Given the description of an element on the screen output the (x, y) to click on. 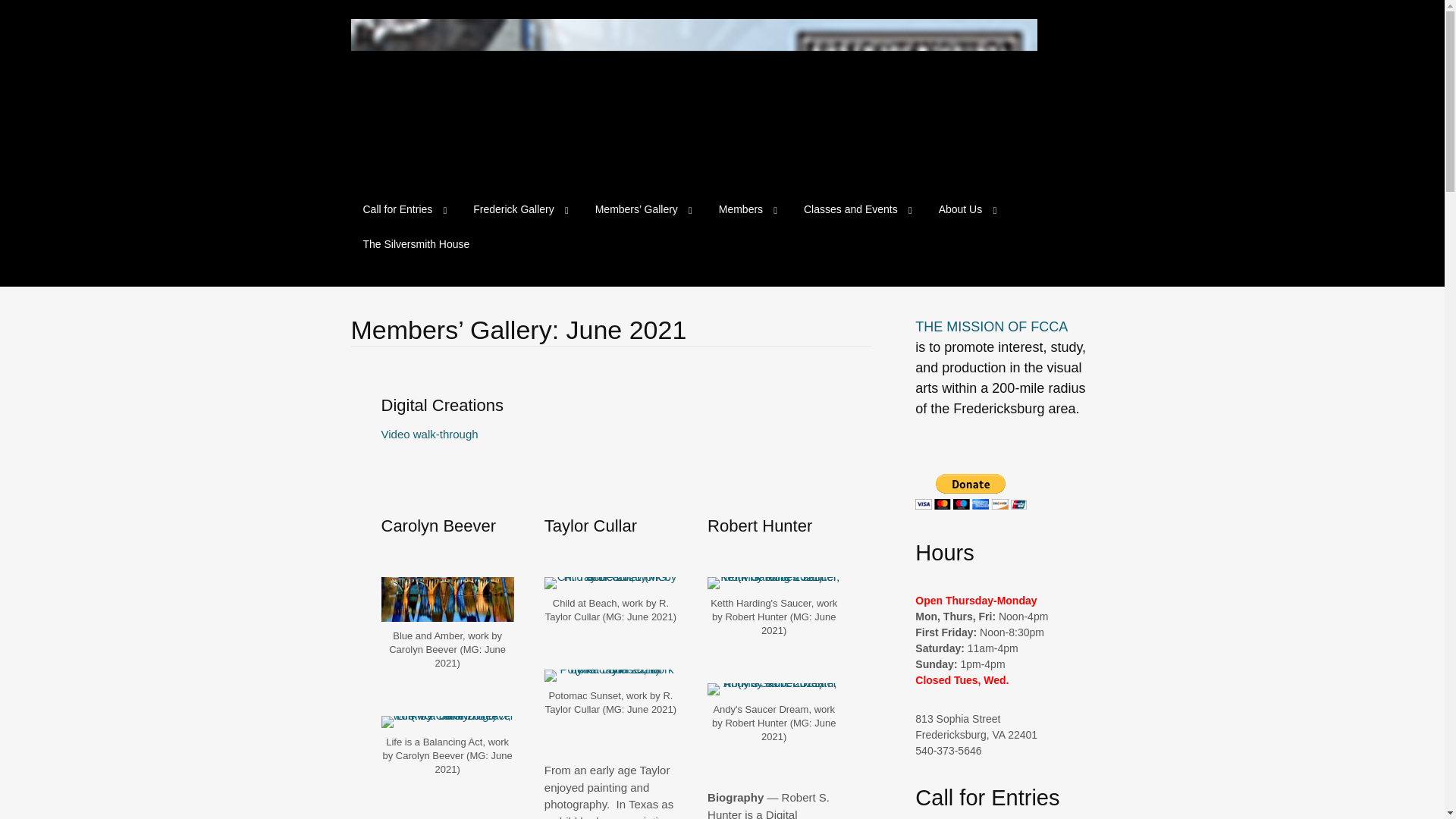
Call for Entries (403, 209)
Frederick Gallery (520, 209)
Members (748, 209)
Skip to content (362, 201)
